Given the description of an element on the screen output the (x, y) to click on. 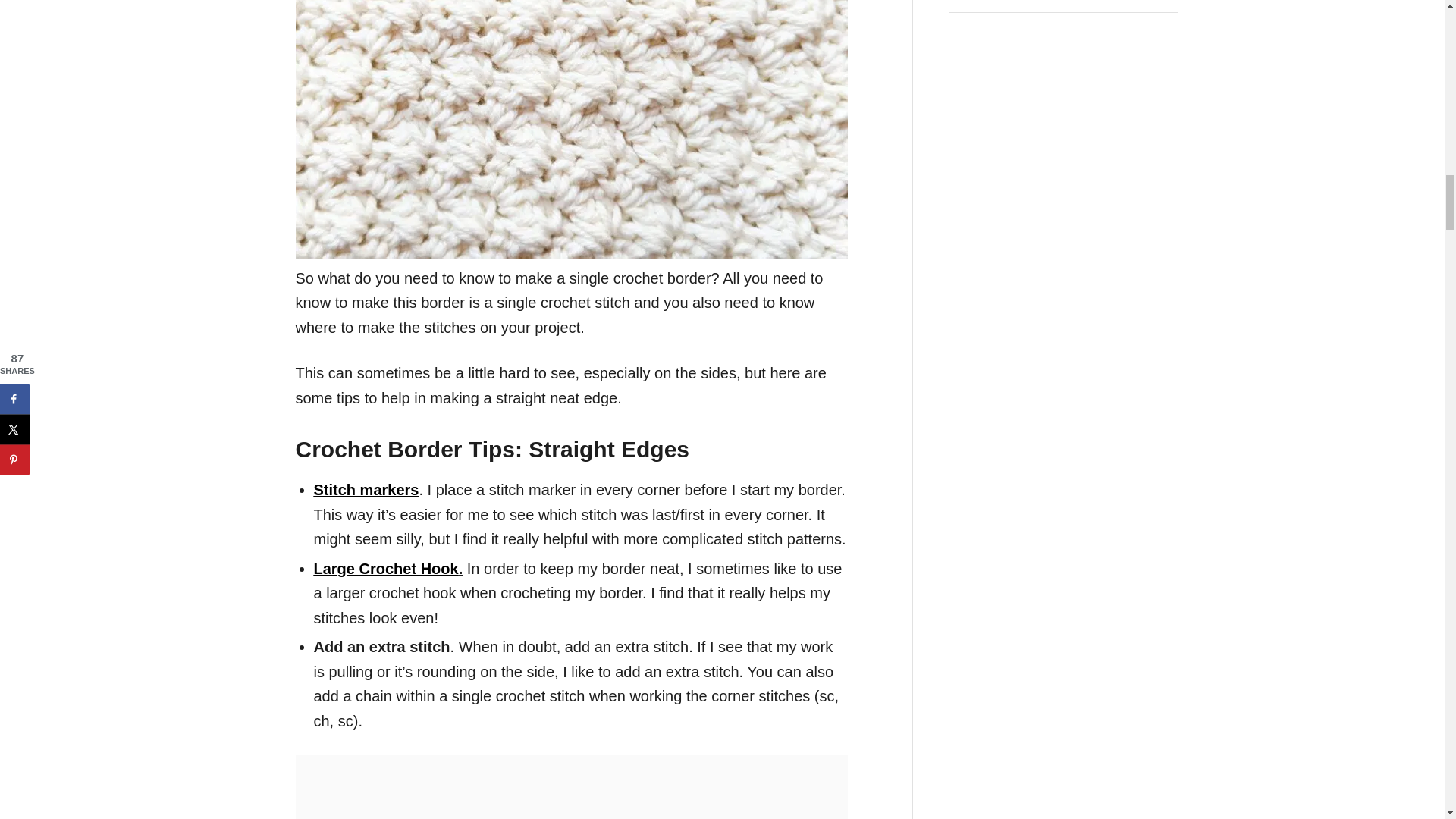
Stitch markers (366, 489)
Large Crochet Hook (386, 567)
